Given the description of an element on the screen output the (x, y) to click on. 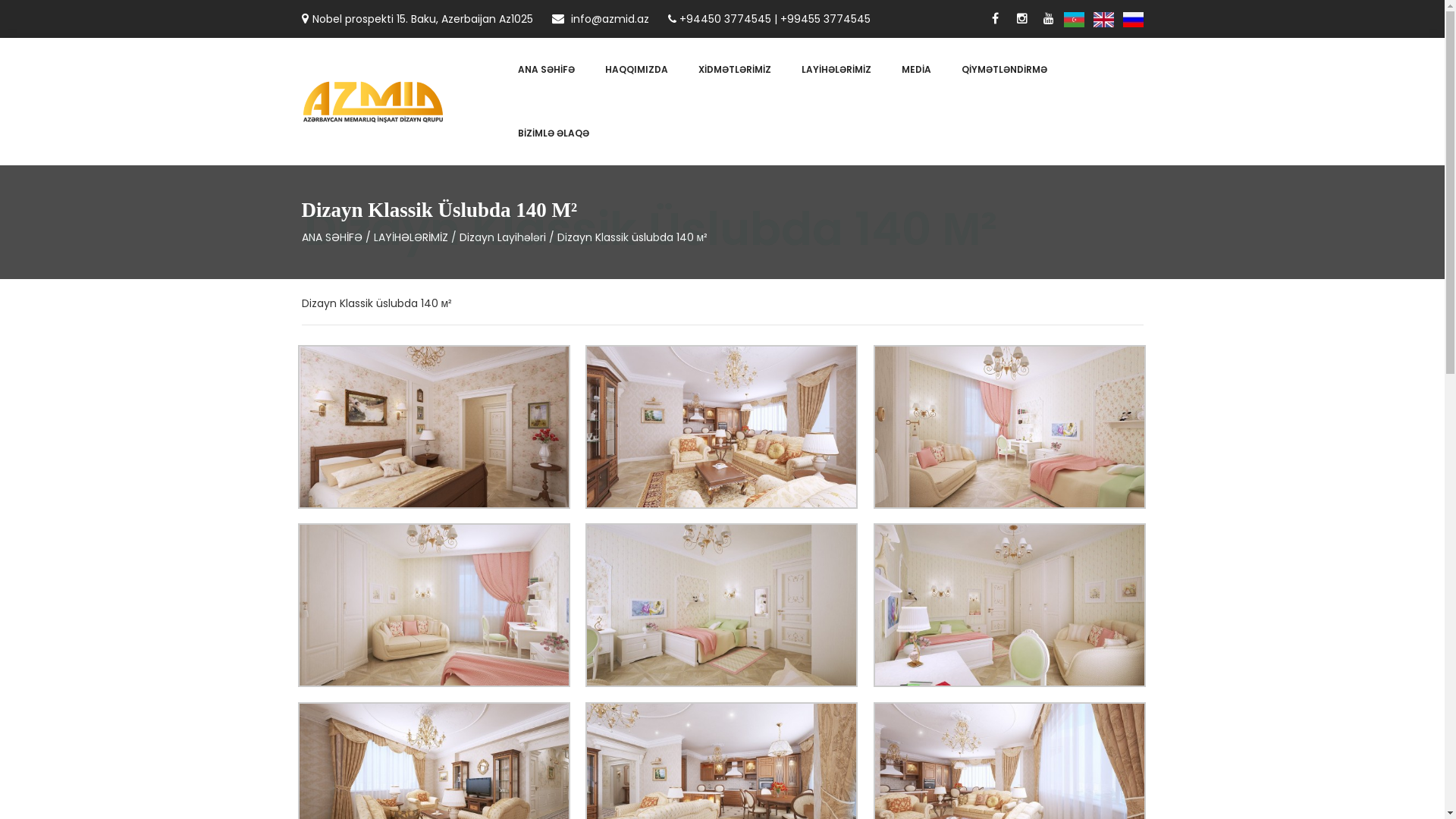
+99455 3774545 Element type: text (824, 18)
info@azmid.az Element type: text (600, 18)
+94450 3774545 Element type: text (725, 18)
HAQQIMIZDA Element type: text (636, 69)
Nobel prospekti 15. Baku, Azerbaijan Az1025 Element type: text (417, 18)
